Given the description of an element on the screen output the (x, y) to click on. 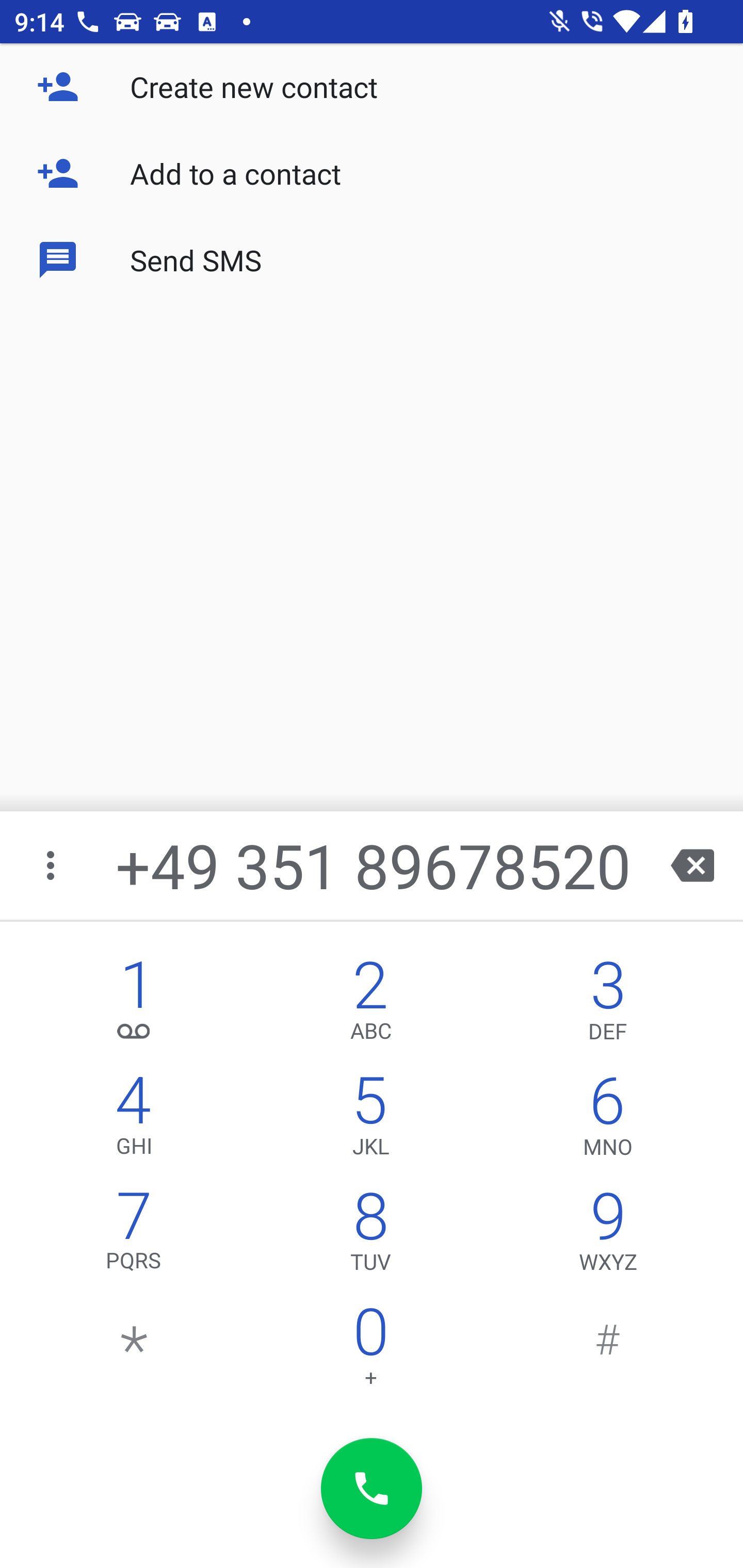
Create new contact (371, 86)
Add to a contact (371, 173)
Send SMS (371, 259)
+49 351 89678520 (372, 865)
backspace (692, 865)
More options (52, 865)
1, 1 (133, 1005)
2,ABC 2 ABC (370, 1005)
3,DEF 3 DEF (607, 1005)
4,GHI 4 GHI (133, 1120)
5,JKL 5 JKL (370, 1120)
6,MNO 6 MNO (607, 1120)
7,PQRS 7 PQRS (133, 1235)
8,TUV 8 TUV (370, 1235)
9,WXYZ 9 WXYZ (607, 1235)
* (133, 1351)
0 0 + (370, 1351)
# (607, 1351)
dial (371, 1488)
